Given the description of an element on the screen output the (x, y) to click on. 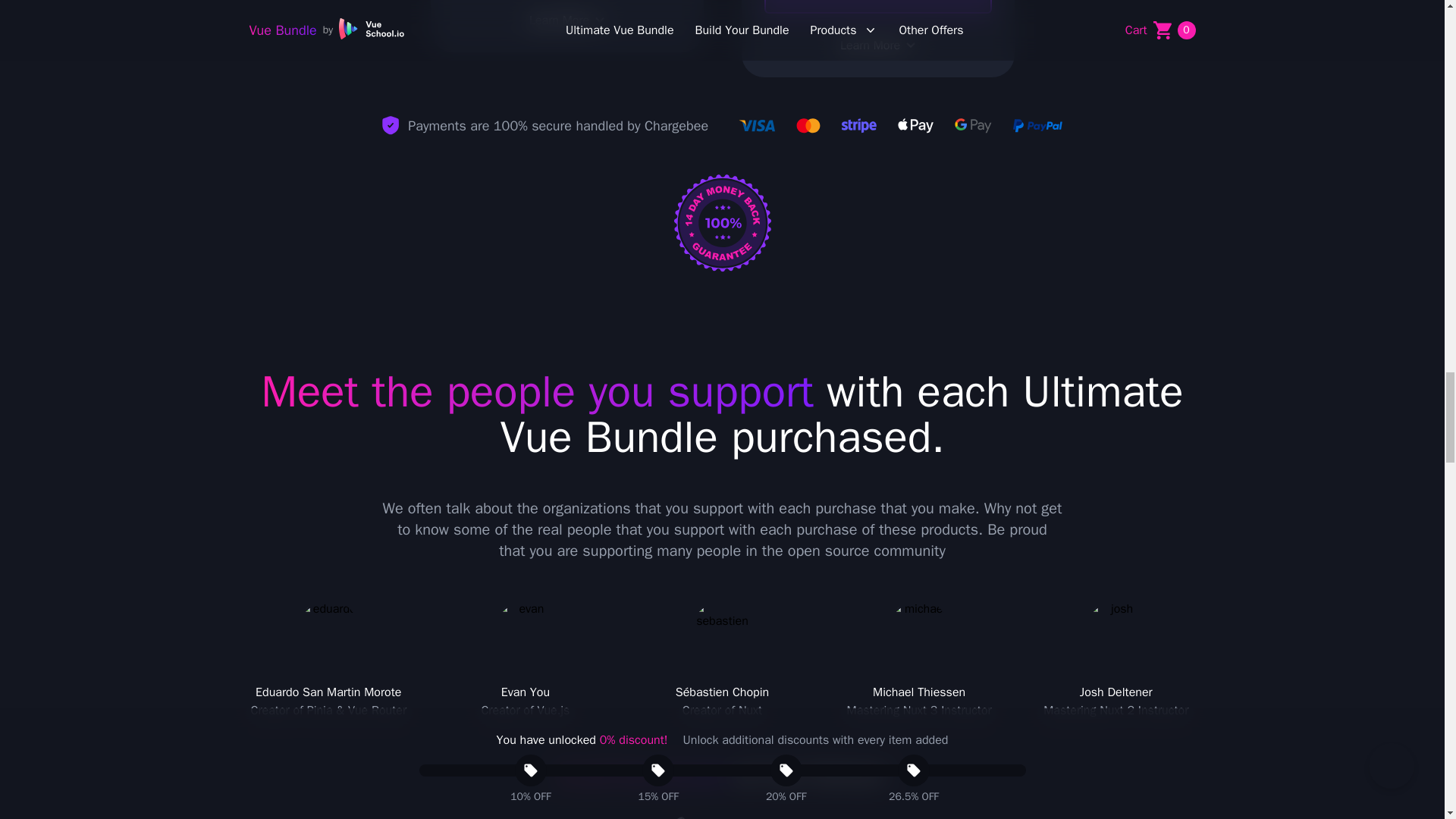
Learn More (566, 20)
